Given the description of an element on the screen output the (x, y) to click on. 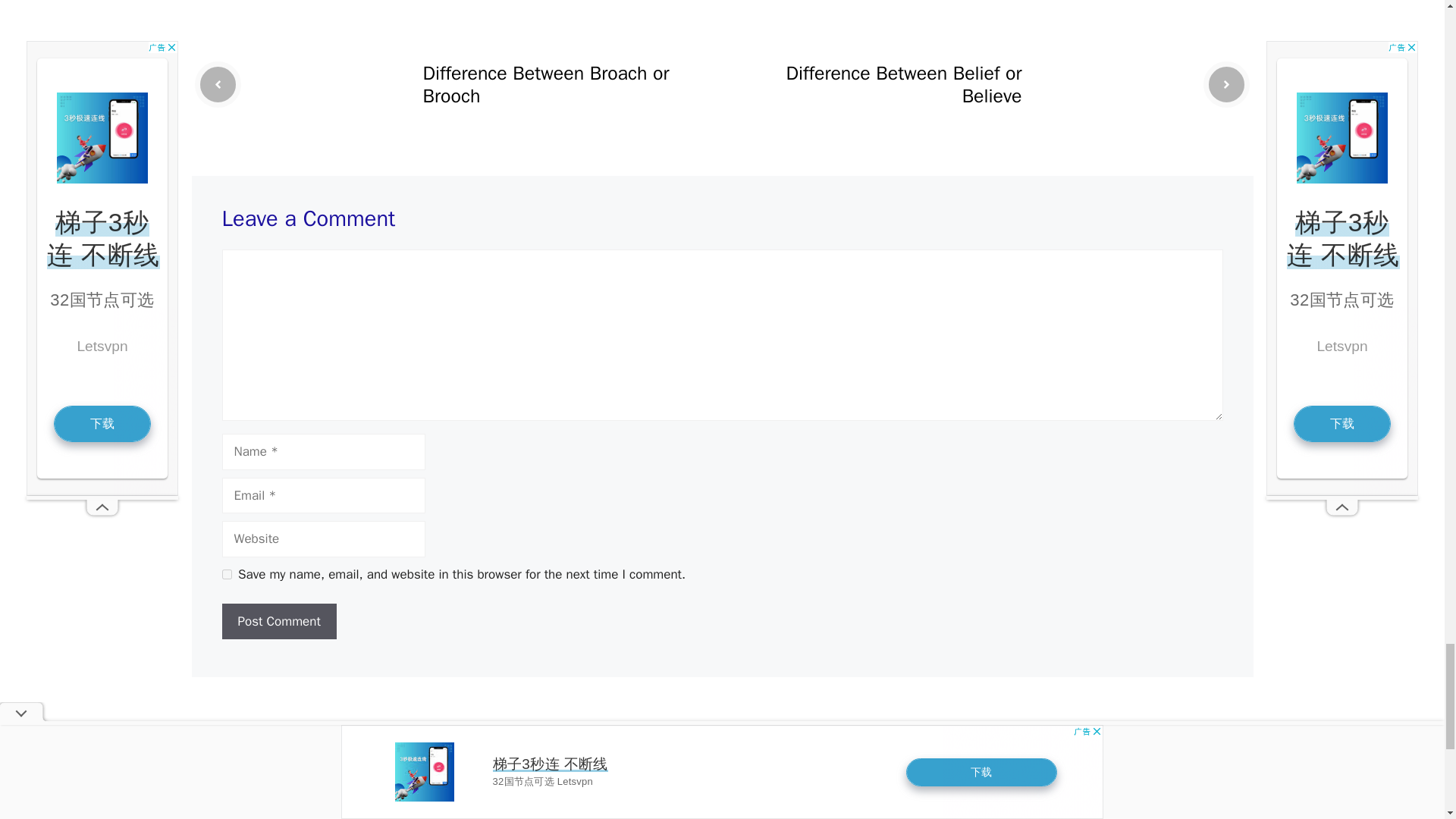
Post Comment (278, 621)
yes (226, 574)
